Given the description of an element on the screen output the (x, y) to click on. 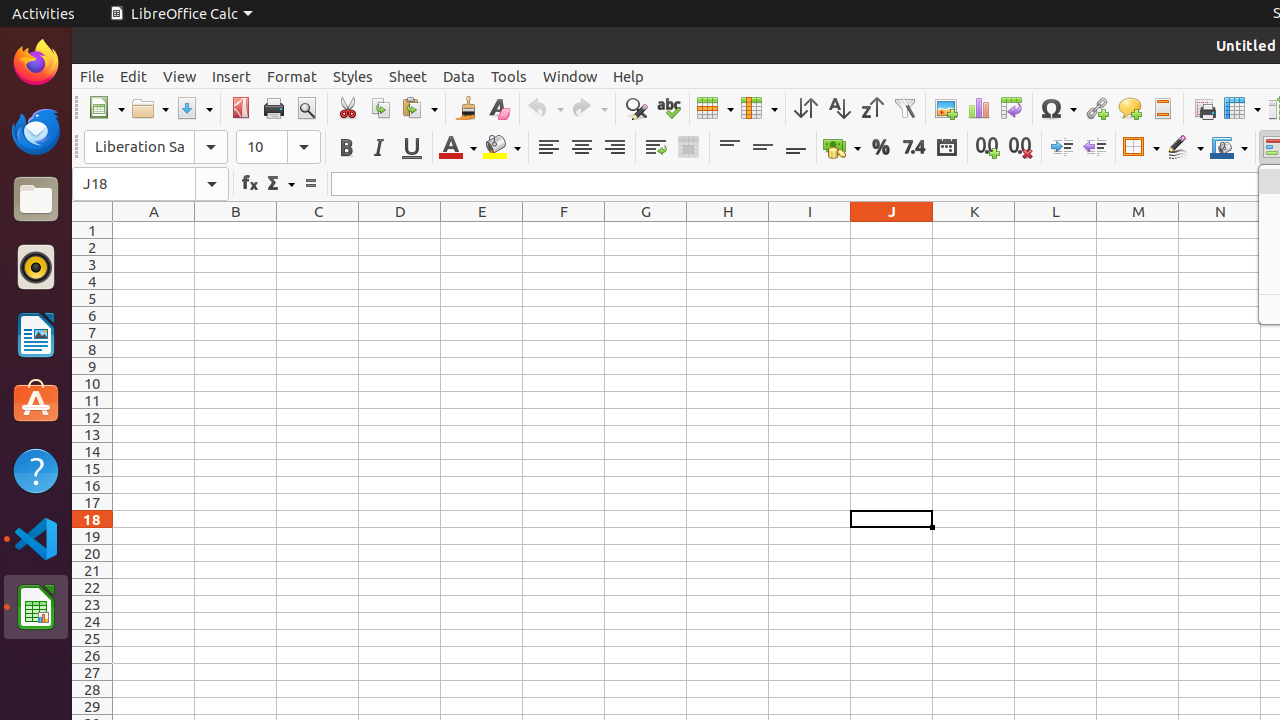
LibreOffice Calc Element type: push-button (36, 607)
Firefox Web Browser Element type: push-button (36, 63)
li.txt Element type: label (259, 89)
